Given the description of an element on the screen output the (x, y) to click on. 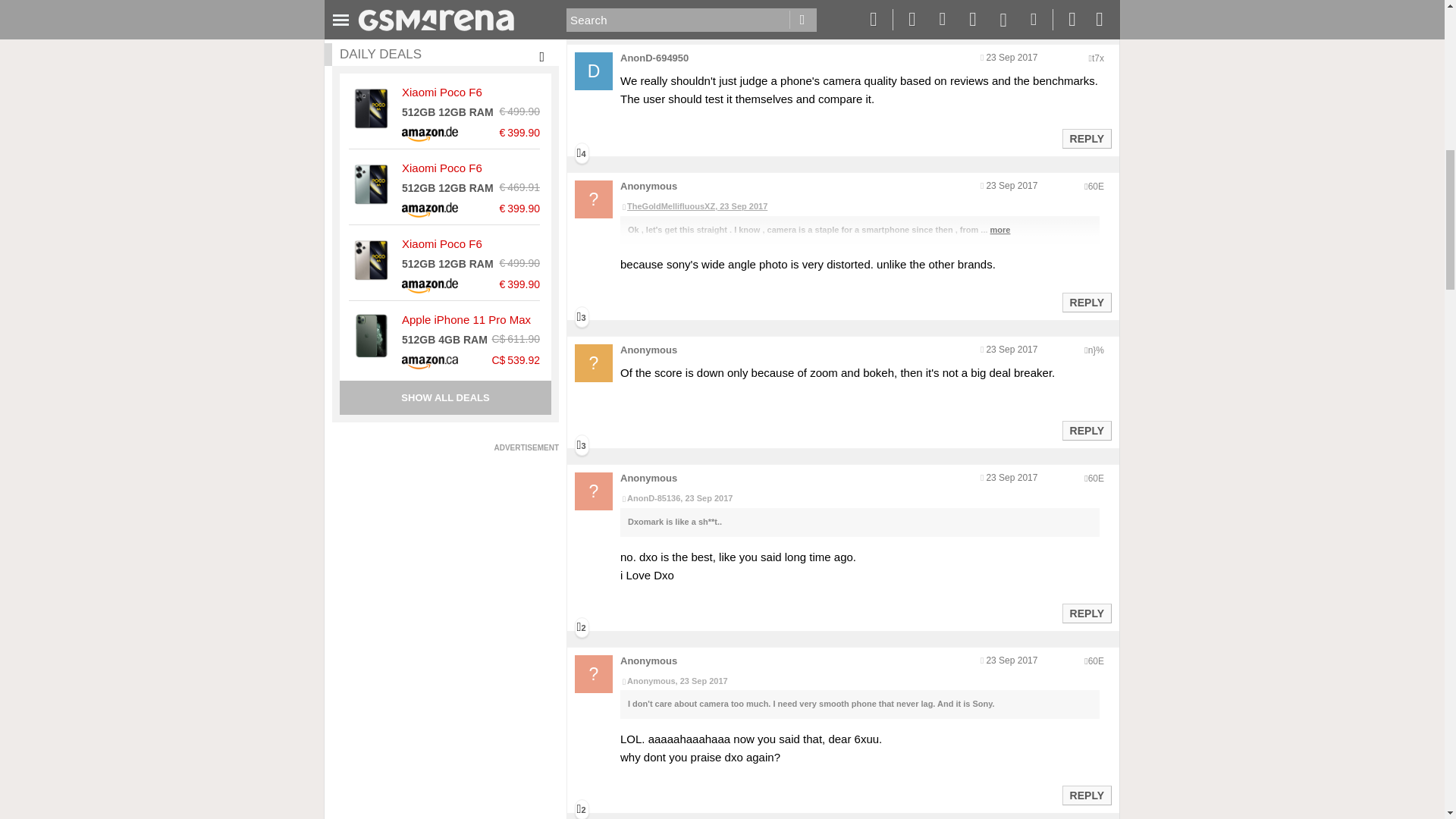
Encoded anonymized location (1095, 185)
Reply to this post (1086, 613)
Encoded anonymized location (1095, 661)
Reply to this post (1086, 138)
Reply to this post (1086, 795)
Reply to this post (1086, 10)
Encoded anonymized location (1095, 349)
Encoded anonymized location (1097, 58)
Encoded anonymized location (1095, 478)
Reply to this post (1086, 430)
Reply to this post (1086, 302)
